Given the description of an element on the screen output the (x, y) to click on. 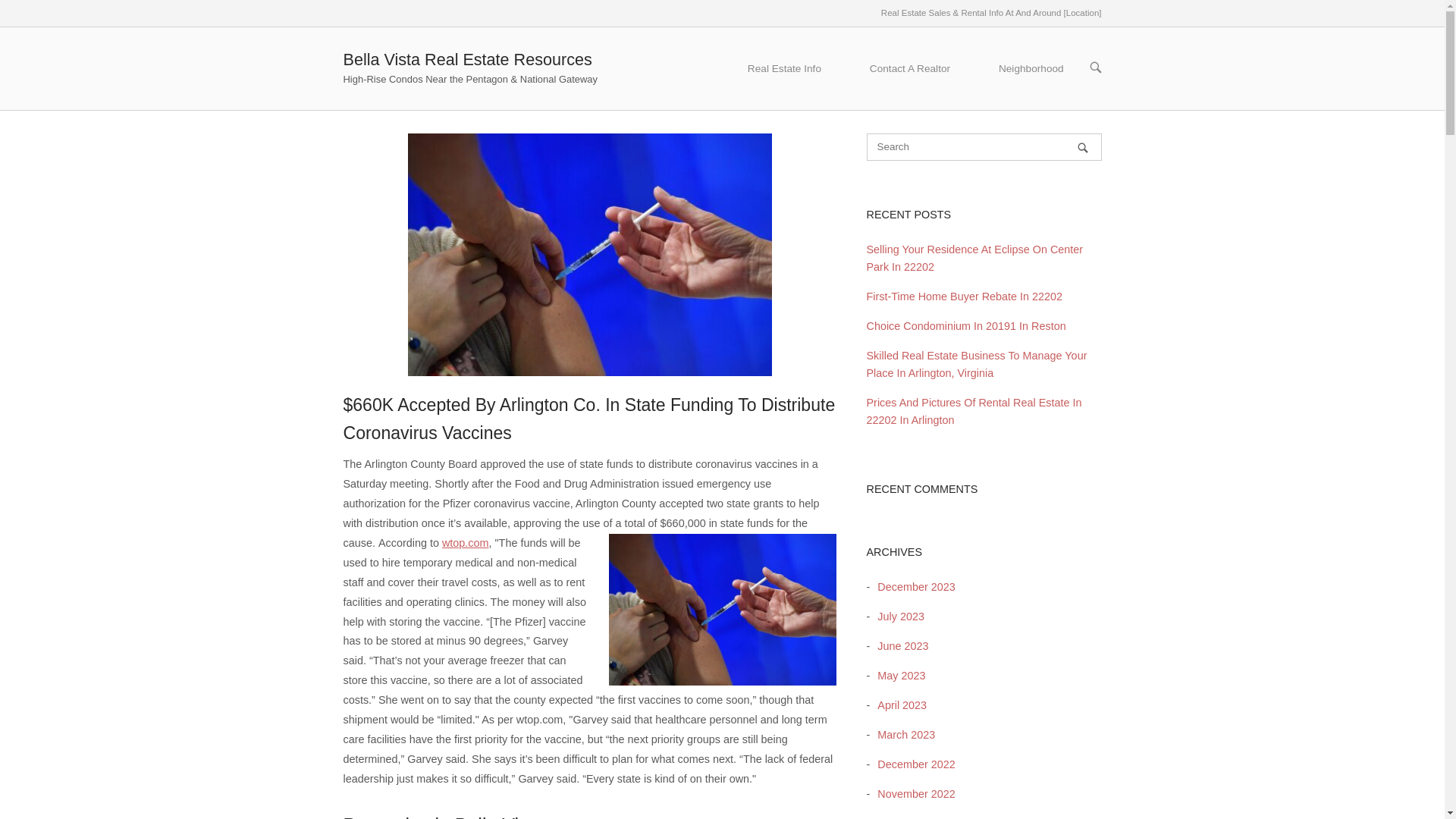
Bella Vista Real Estate Resources (466, 58)
Selling Your Residence At Eclipse On Center Park In 22202 (974, 257)
April 2023 (897, 705)
May 2023 (896, 675)
June 2023 (898, 645)
Real Estate Info (784, 68)
December 2023 (912, 586)
Neighborhood (1030, 68)
First-Time Home Buyer Rebate In 22202 (964, 296)
